Given the description of an element on the screen output the (x, y) to click on. 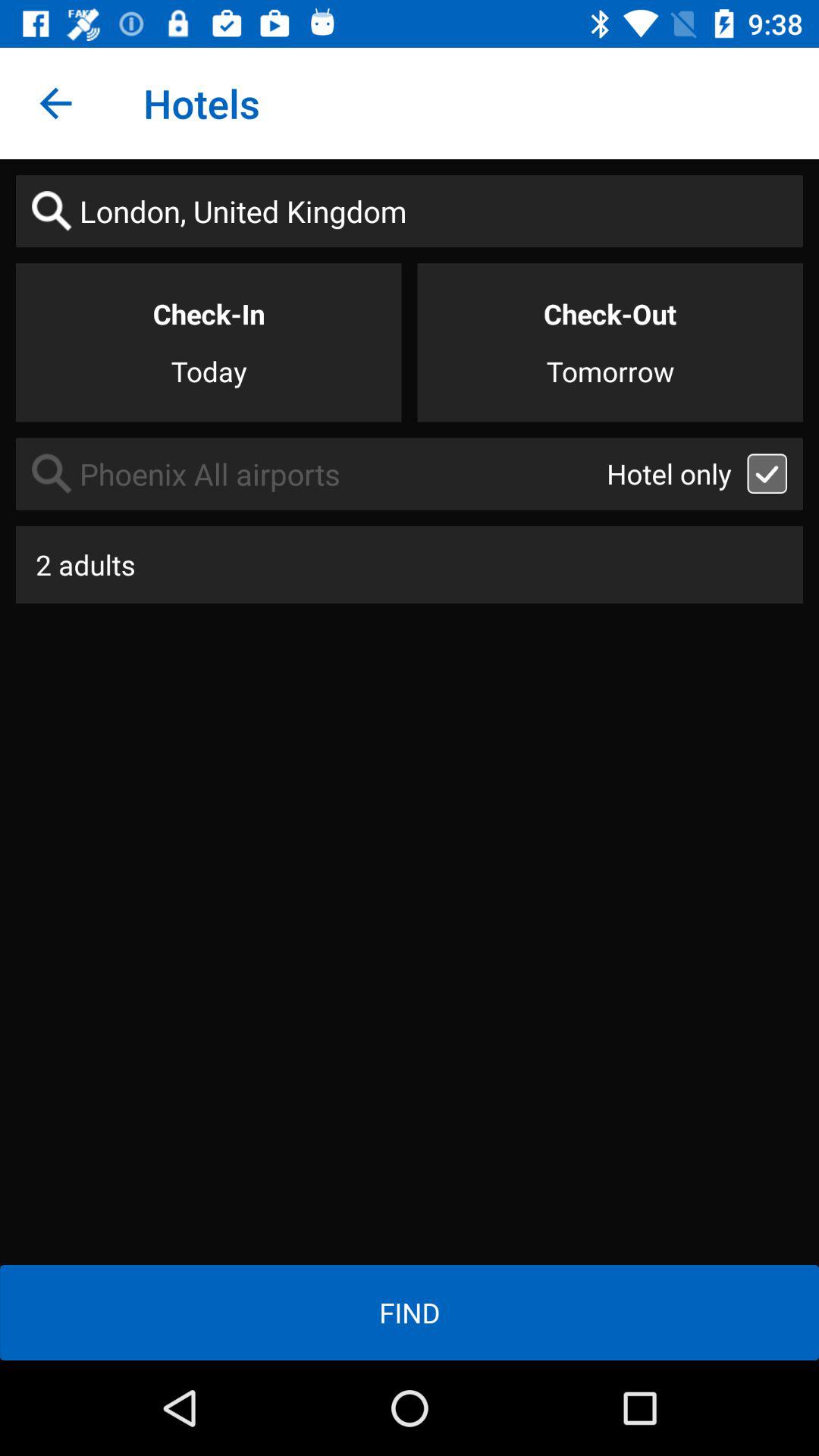
swipe until the london, united kingdom item (409, 211)
